Given the description of an element on the screen output the (x, y) to click on. 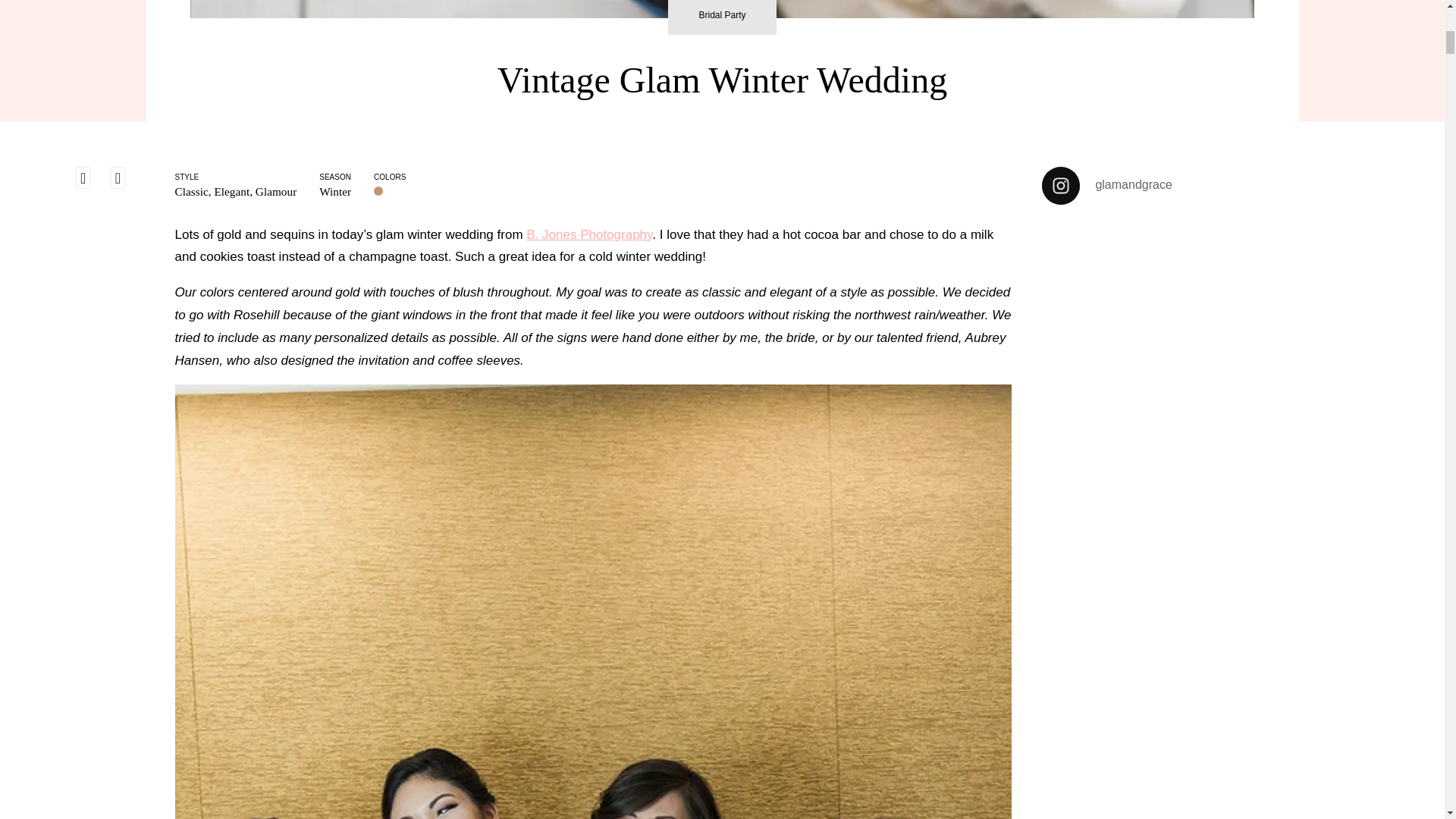
Classic (191, 191)
Gold (379, 191)
White (391, 191)
Bridal Party (722, 17)
Glamour (276, 191)
Elegant (231, 191)
Winter (334, 191)
B. Jones Photography (588, 234)
